Given the description of an element on the screen output the (x, y) to click on. 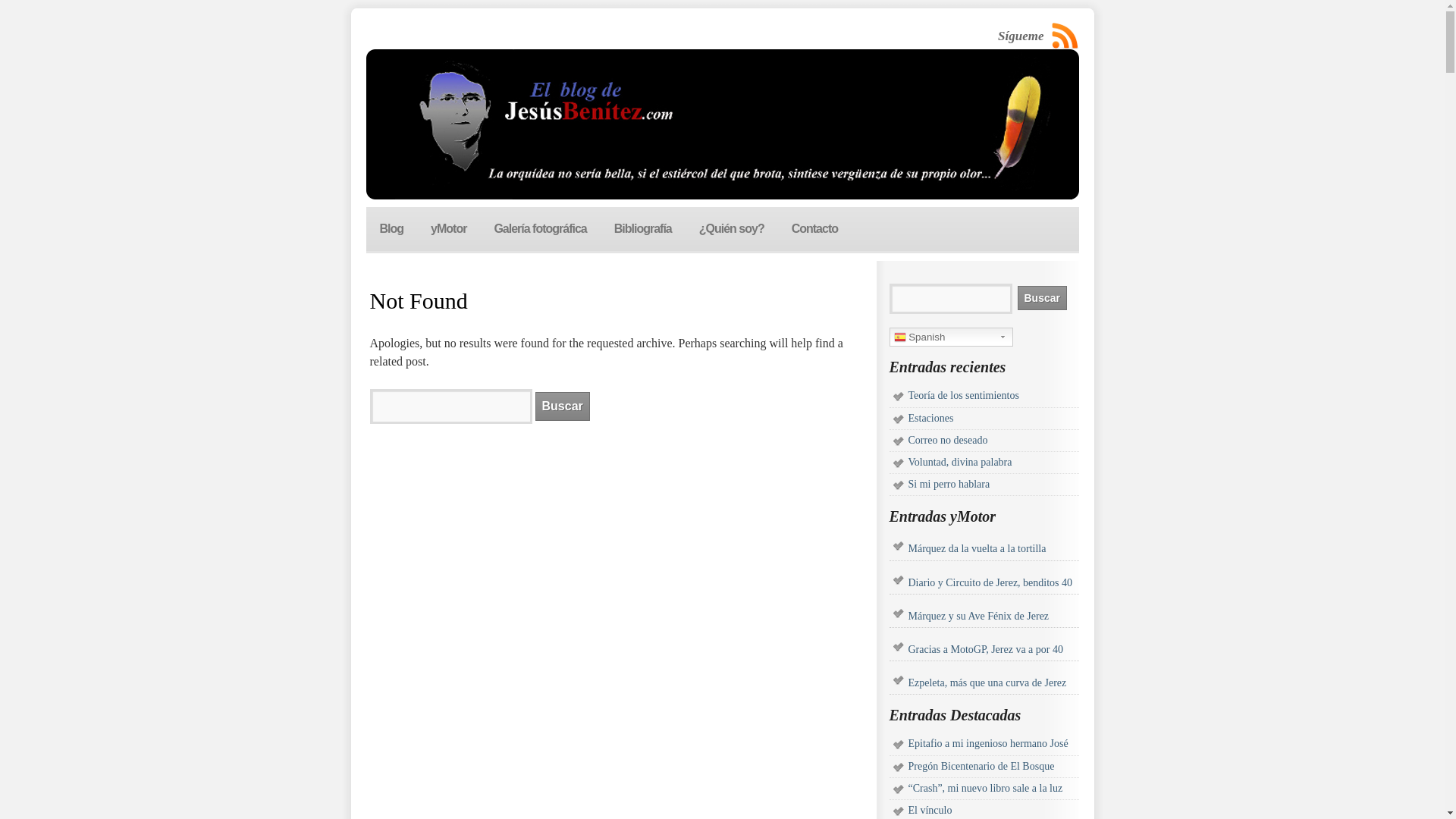
Blog (390, 228)
Voluntad, divina palabra (959, 461)
Estaciones (930, 418)
Spanish (949, 336)
RSS Feed (1064, 35)
Contacto (814, 228)
Buscar (1042, 297)
Correo no deseado (948, 439)
Si mi perro hablara (949, 483)
Diario y Circuito de Jerez, benditos 40 (993, 582)
Buscar (562, 406)
Buscar (562, 406)
yMotor (448, 228)
Gracias a MotoGP, Jerez va a por 40  (993, 649)
Buscar (1042, 297)
